Given the description of an element on the screen output the (x, y) to click on. 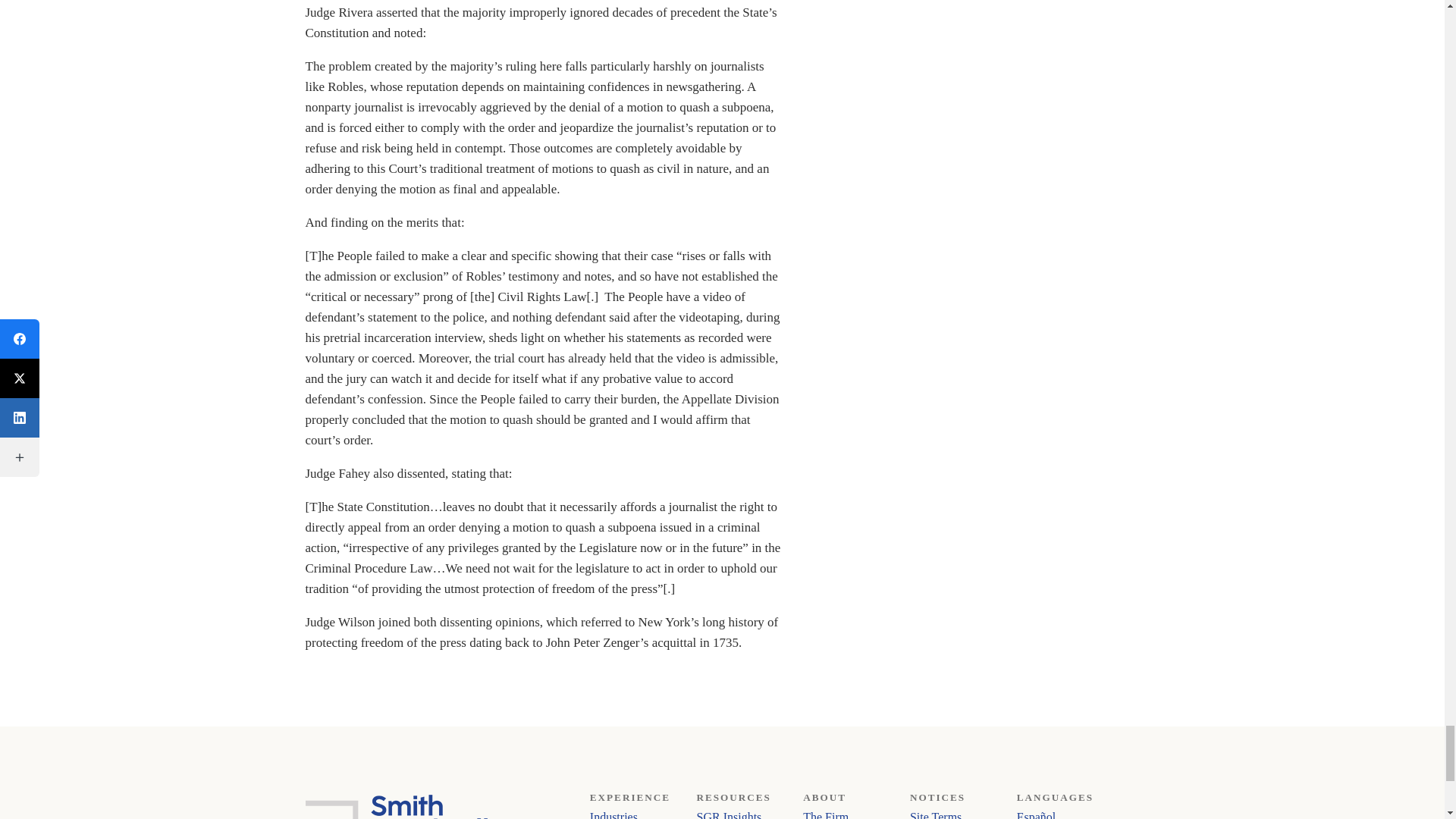
Industries (613, 814)
SGR Insights (729, 814)
Site Terms (935, 814)
The Firm (825, 814)
